Given the description of an element on the screen output the (x, y) to click on. 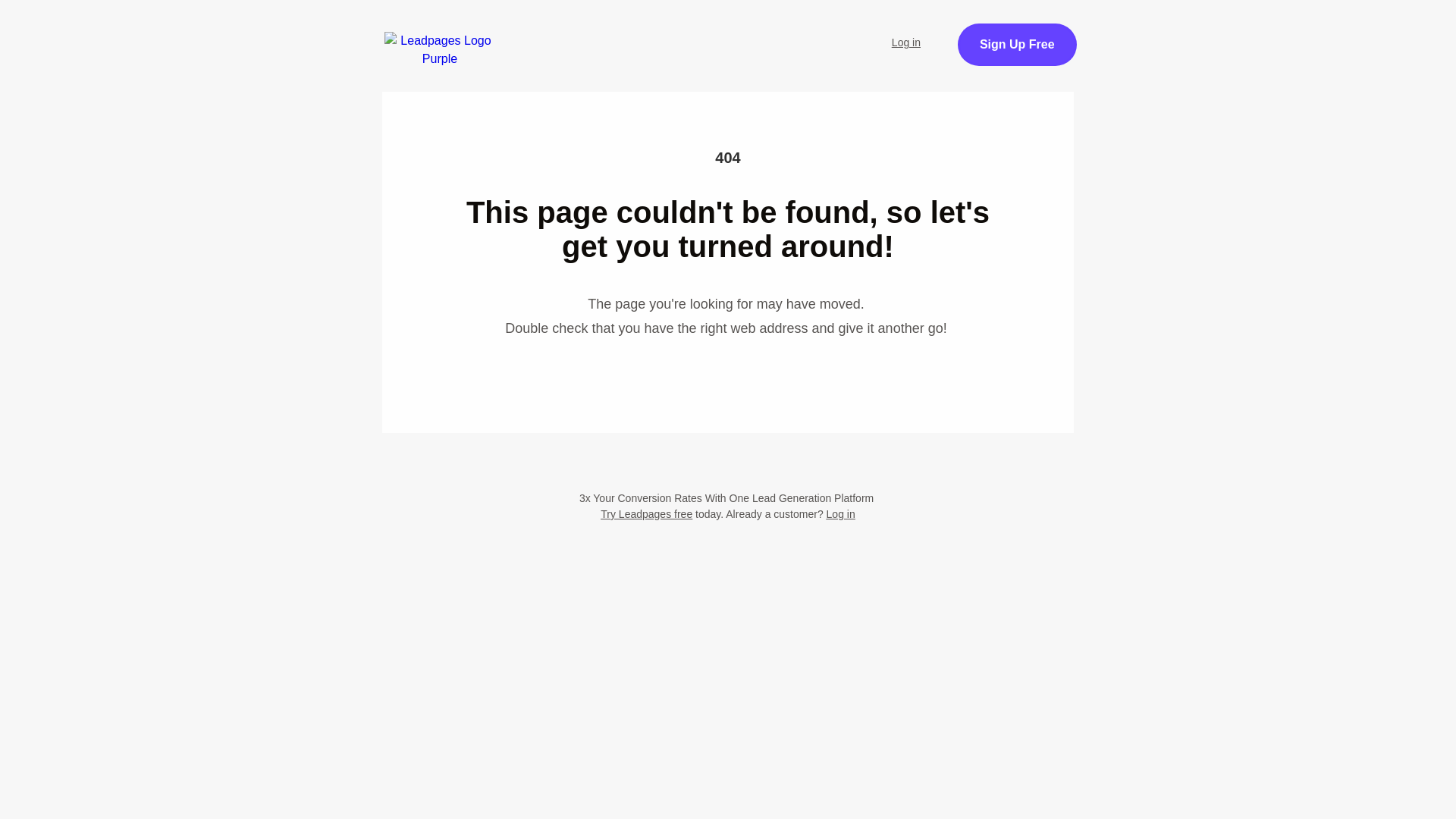
HOME (501, 33)
Get Free Prophecy (1070, 53)
Start Spiritual Gifts Test (627, 33)
Our Verse of the Day (791, 33)
Give To The Ministry (529, 74)
Get Free Book From The Ministry (727, 150)
